Given the description of an element on the screen output the (x, y) to click on. 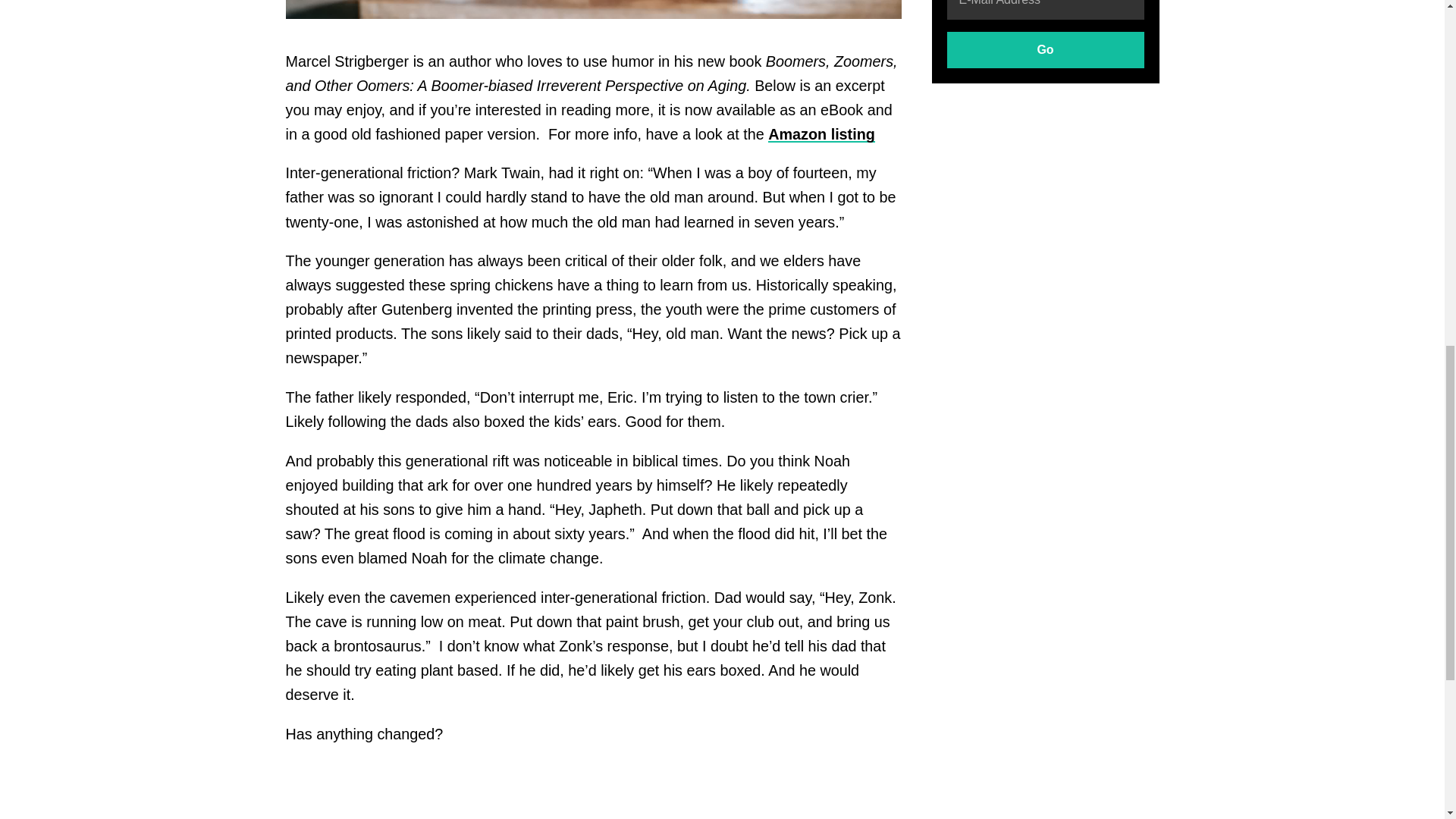
Go (1044, 49)
Amazon listing (821, 134)
